Given the description of an element on the screen output the (x, y) to click on. 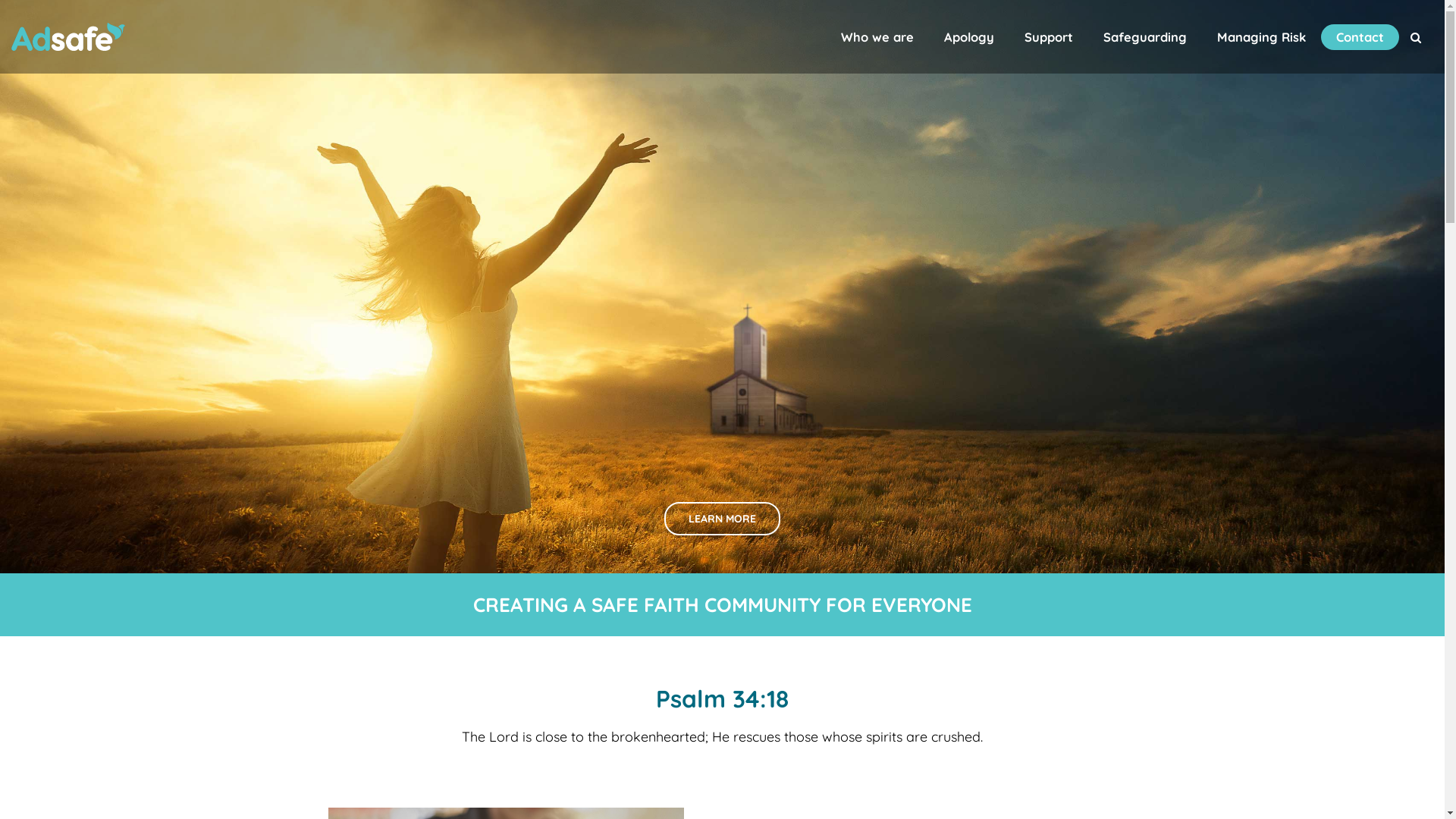
Support Element type: text (1048, 36)
Adsafe Element type: hover (68, 36)
Contact Element type: text (1360, 36)
Who we are Element type: text (876, 36)
Safeguarding Element type: text (1144, 36)
Managing Risk Element type: text (1261, 36)
Apology Element type: text (968, 36)
LEARN MORE Element type: text (722, 518)
